Given the description of an element on the screen output the (x, y) to click on. 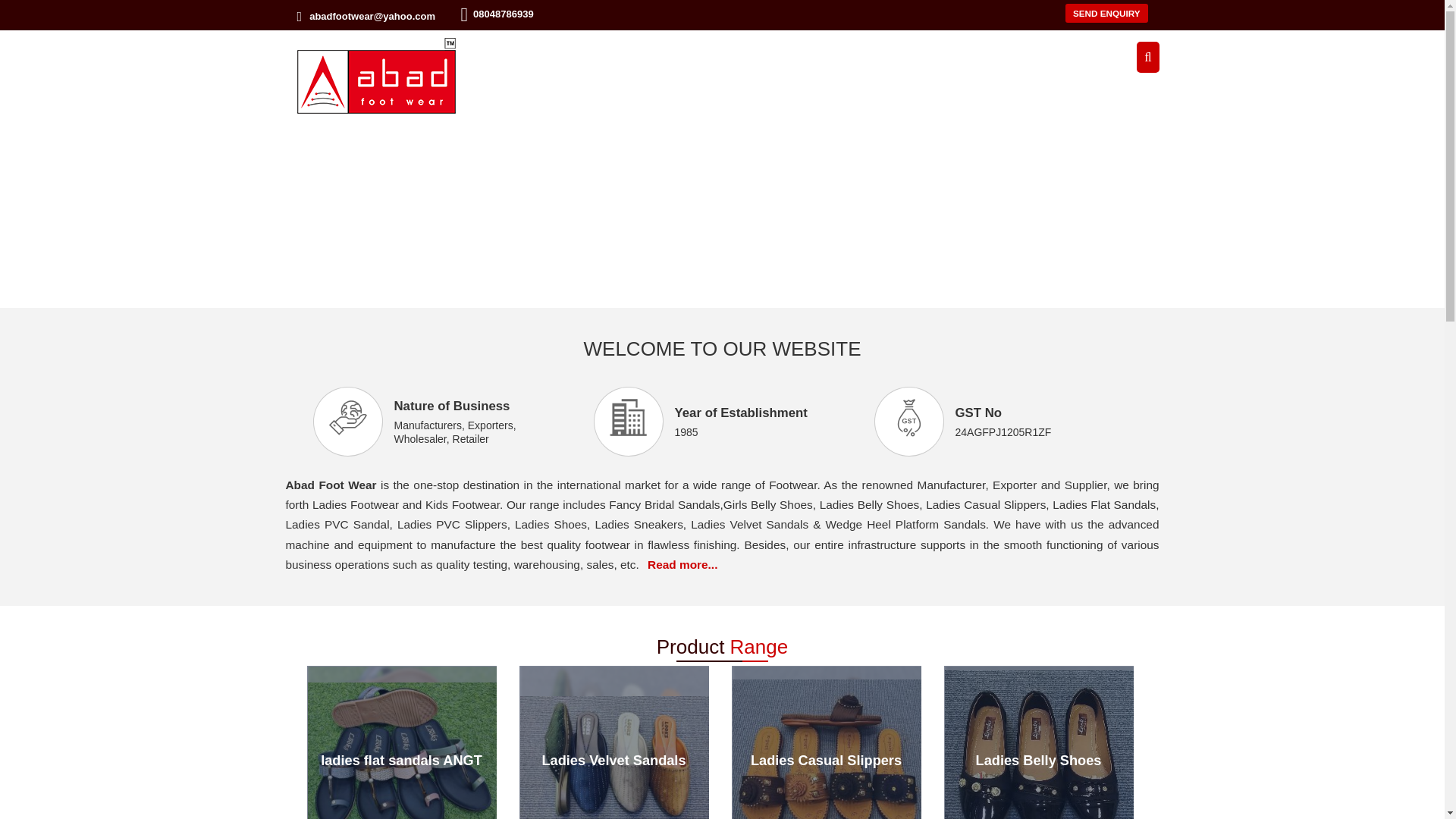
Ladies Casual Slippers (825, 760)
Ladies Belly Shoes (1037, 760)
ladies flat sandals ANGT (400, 760)
SEND ENQUIRY (1106, 13)
Abad Foot Wear (376, 75)
Ladies Velvet Sandals (612, 760)
Read more... (682, 563)
